Given the description of an element on the screen output the (x, y) to click on. 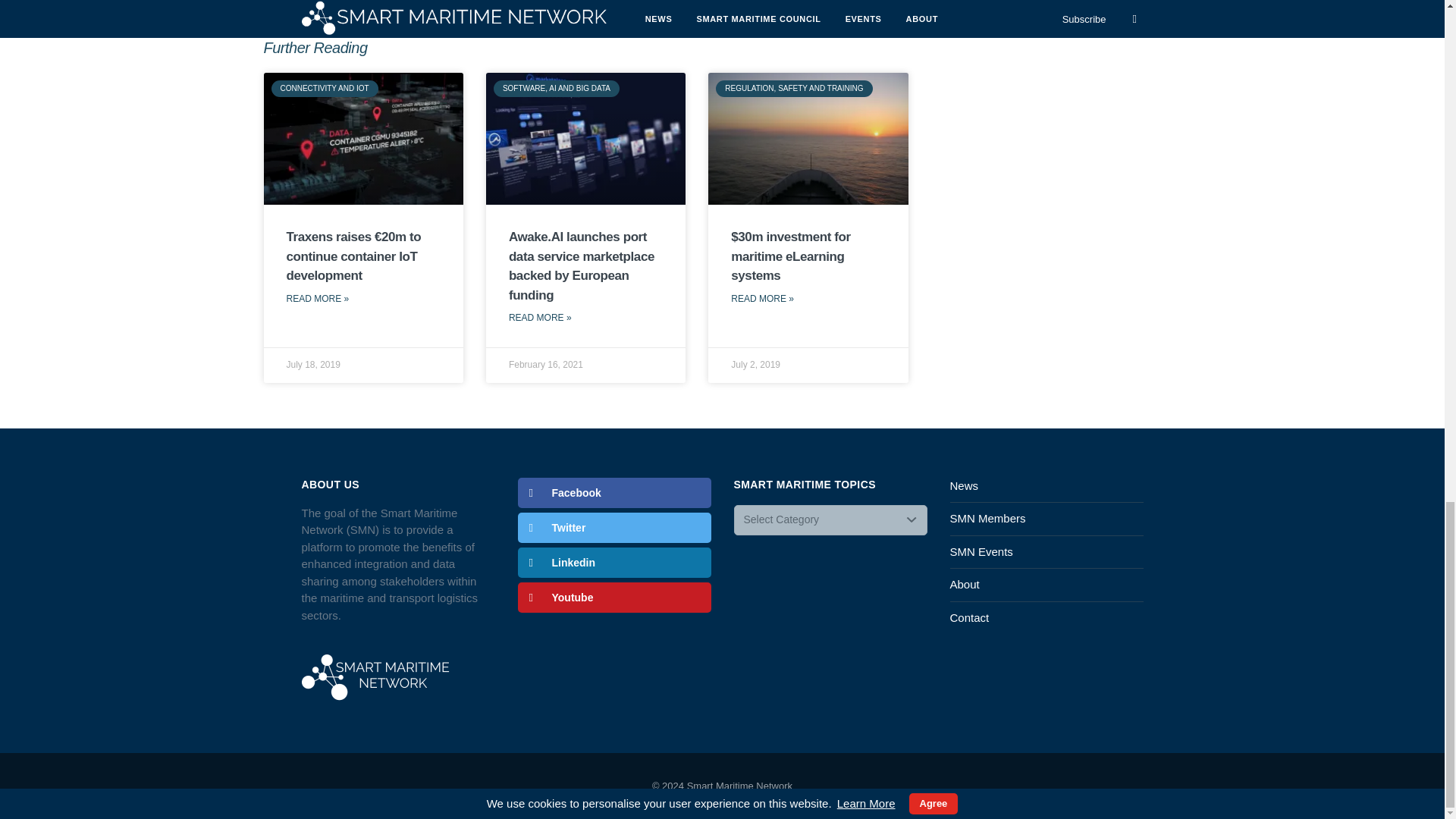
Linkedin (613, 562)
Twitter (613, 527)
Facebook (613, 492)
Youtube (613, 597)
